Given the description of an element on the screen output the (x, y) to click on. 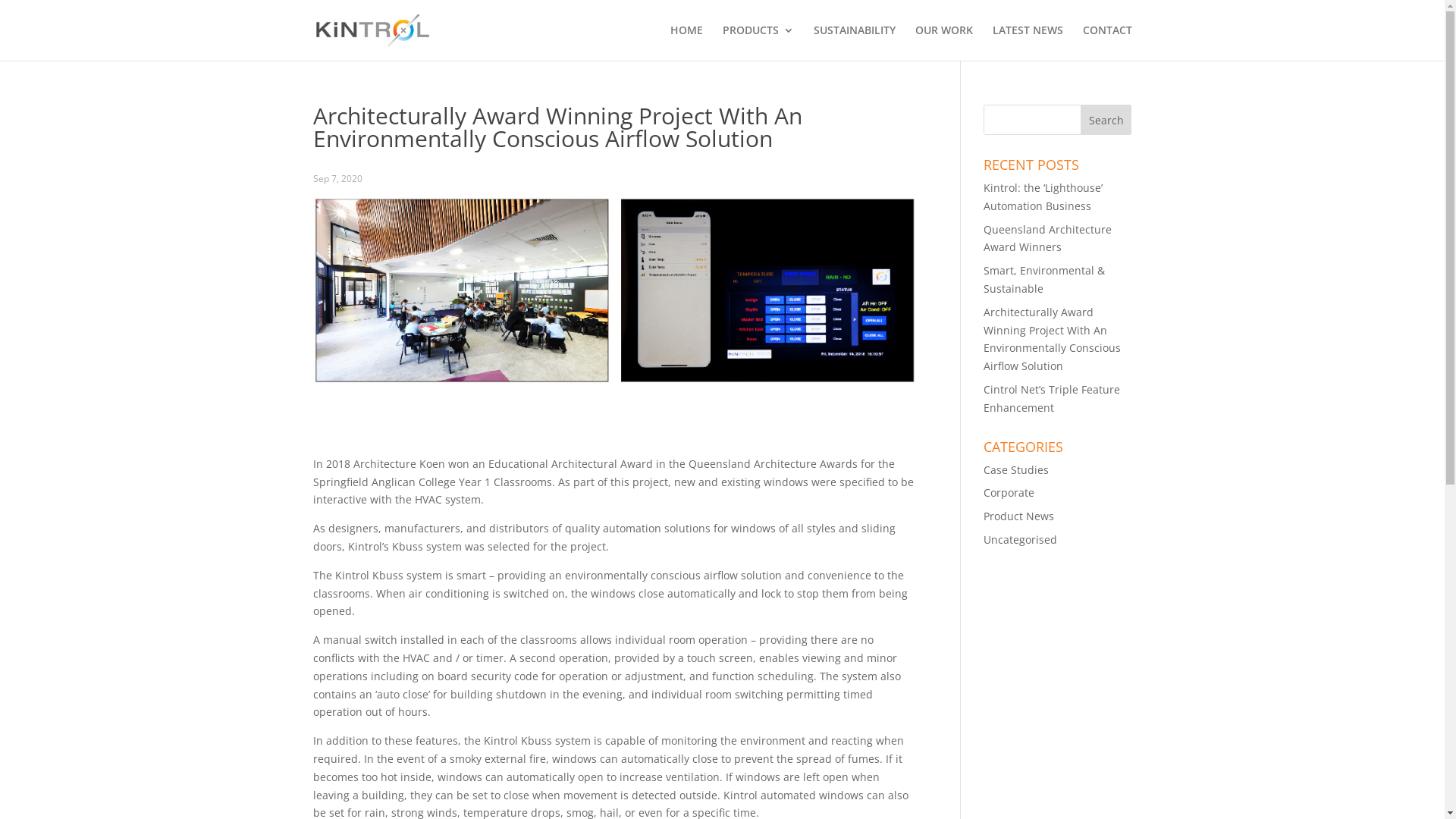
Product News Element type: text (1018, 515)
PRODUCTS Element type: text (757, 42)
CONTACT Element type: text (1107, 42)
Corporate Element type: text (1008, 492)
LATEST NEWS Element type: text (1026, 42)
Queensland Architecture Award Winners Element type: text (1047, 238)
Uncategorised Element type: text (1020, 539)
Smart, Environmental & Sustainable Element type: text (1043, 279)
HOME Element type: text (686, 42)
OUR WORK Element type: text (943, 42)
Case Studies Element type: text (1015, 469)
Search Element type: text (1106, 119)
SUSTAINABILITY Element type: text (853, 42)
